Given the description of an element on the screen output the (x, y) to click on. 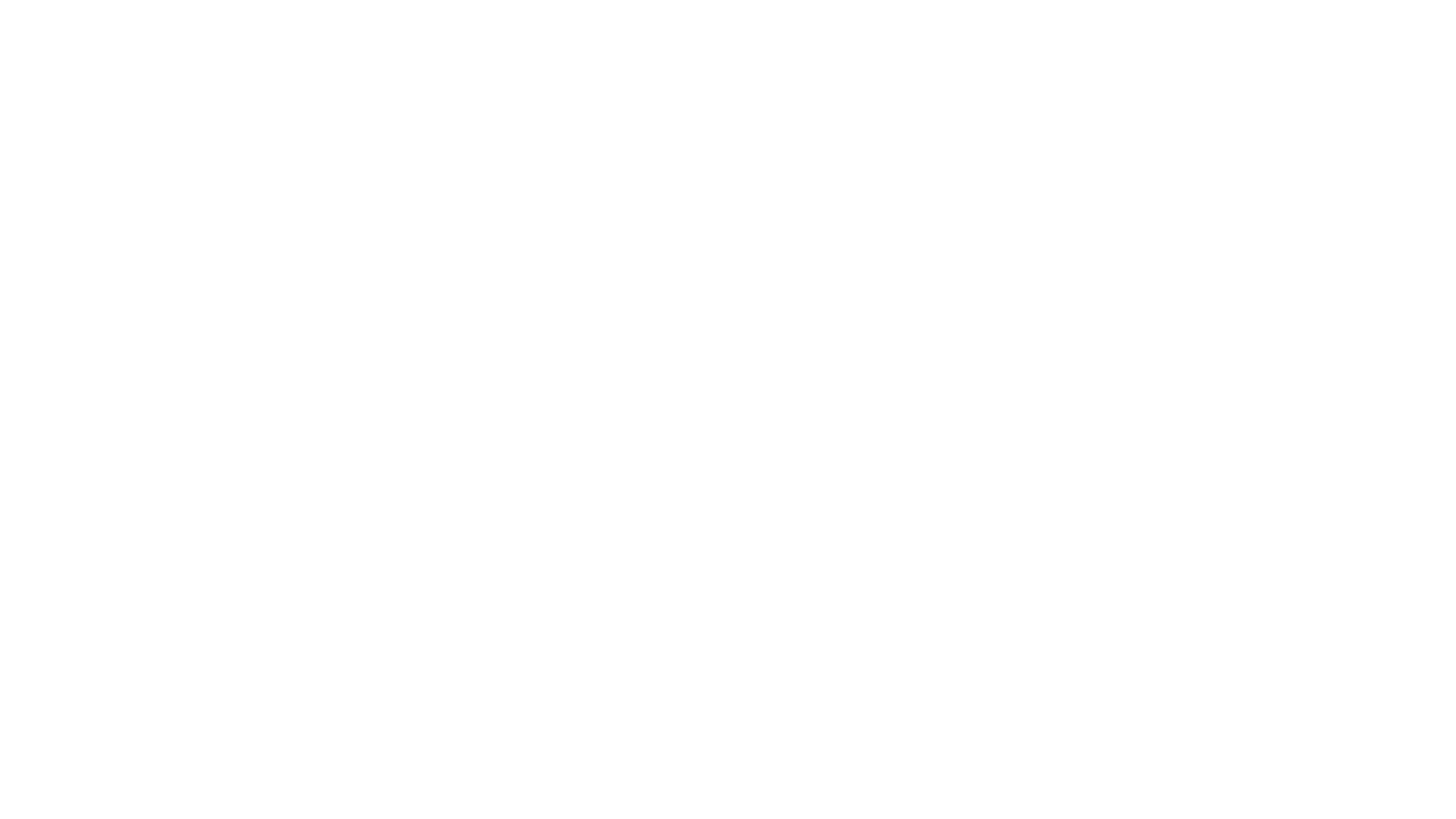
1508726442950227.png Element type: hover (1017, 74)
1493377588794108.png Element type: hover (728, 710)
1508726009791698.jpg Element type: hover (358, 62)
1508726379221742.png Element type: hover (661, 49)
